Given the description of an element on the screen output the (x, y) to click on. 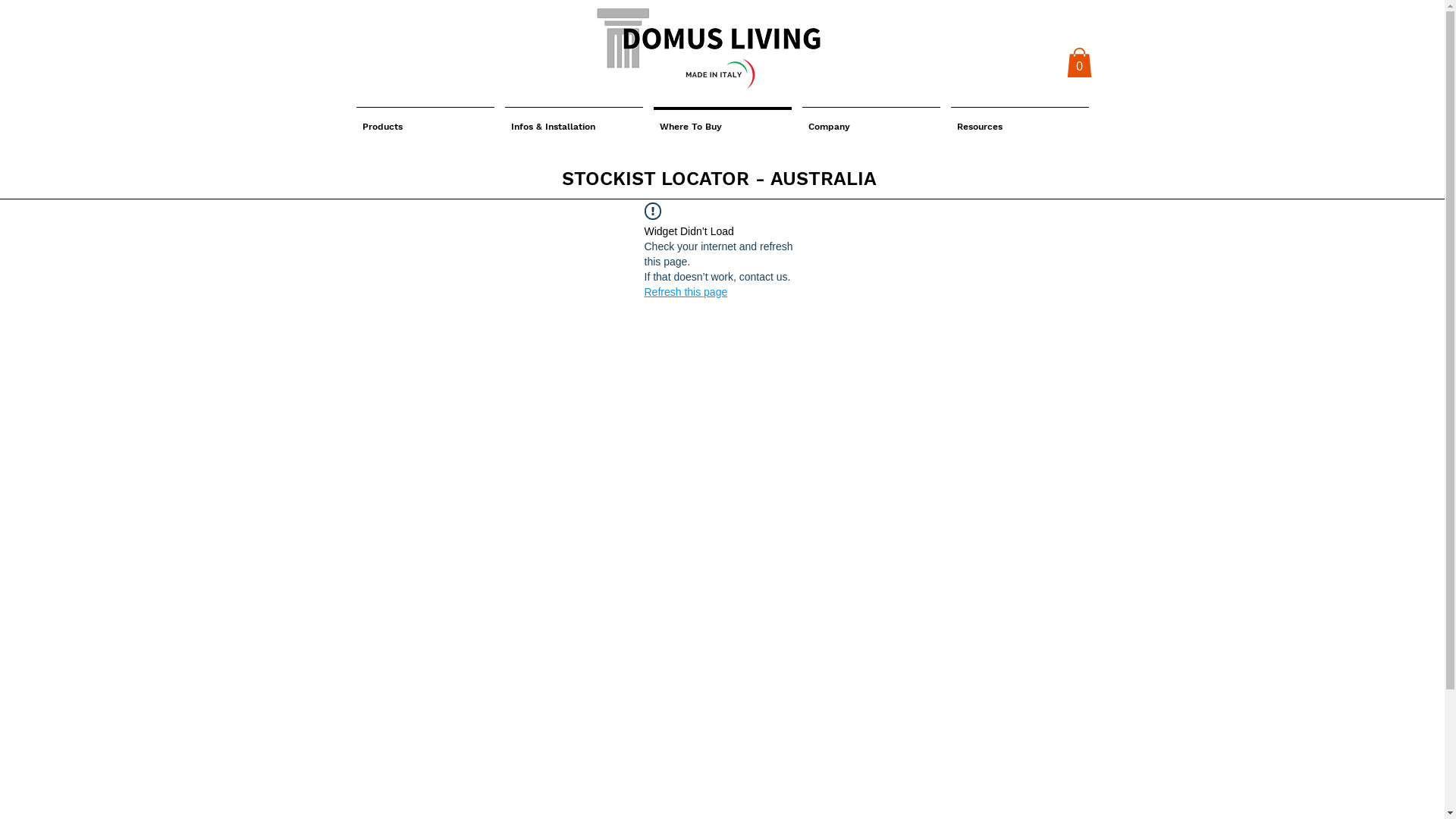
0 Element type: text (1078, 62)
Products Element type: text (424, 119)
Company Element type: text (870, 119)
Where To Buy Element type: text (721, 119)
Refresh this page Element type: text (686, 291)
Resources Element type: text (1018, 119)
Infos & Installation Element type: text (572, 119)
